Given the description of an element on the screen output the (x, y) to click on. 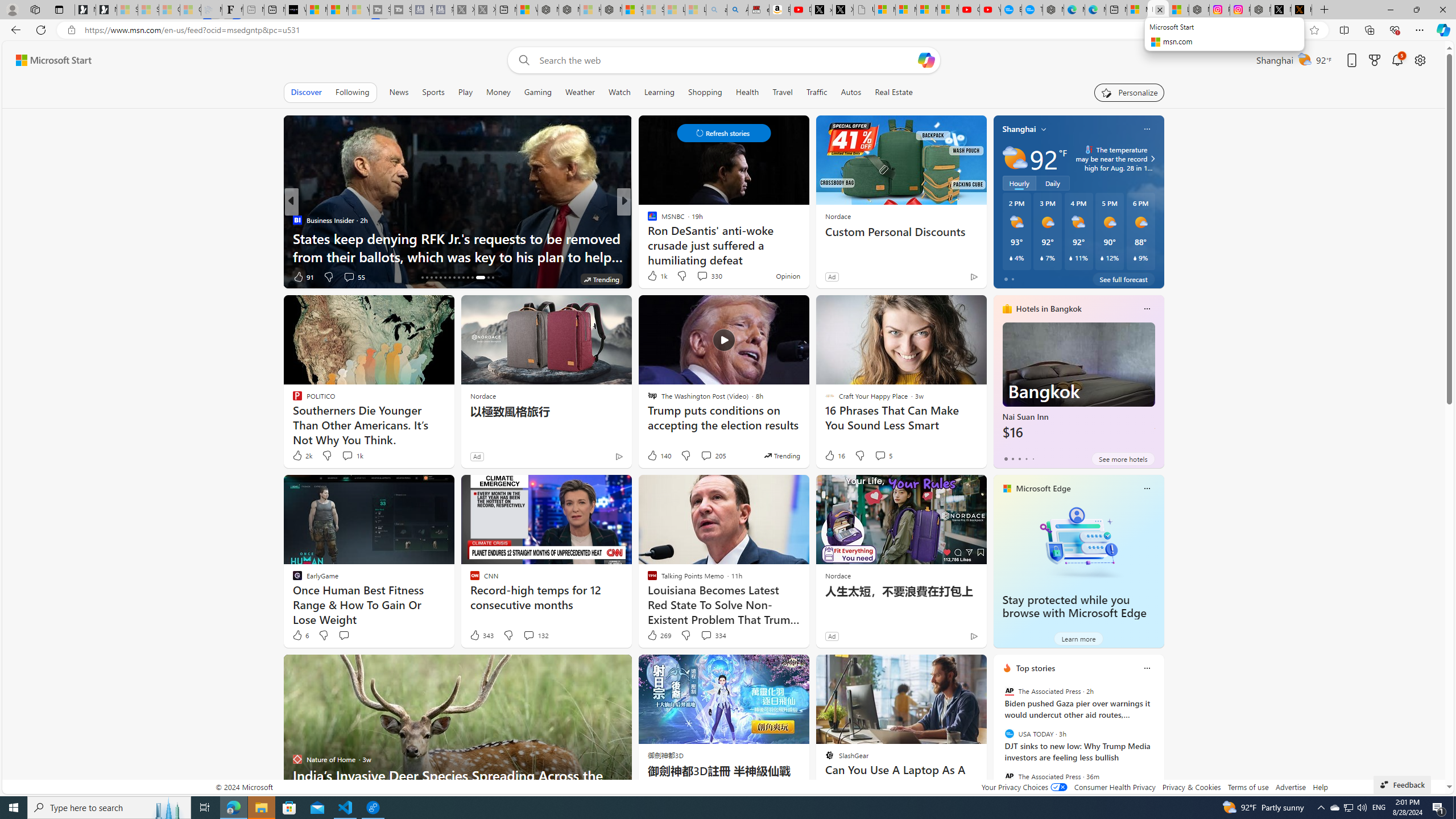
help.x.com | 524: A timeout occurred (1301, 9)
ABC News (647, 219)
AutomationID: tab-17 (426, 277)
Gaming (537, 92)
See full forecast (1123, 278)
YouTube Kids - An App Created for Kids to Explore Content (990, 9)
